Given the description of an element on the screen output the (x, y) to click on. 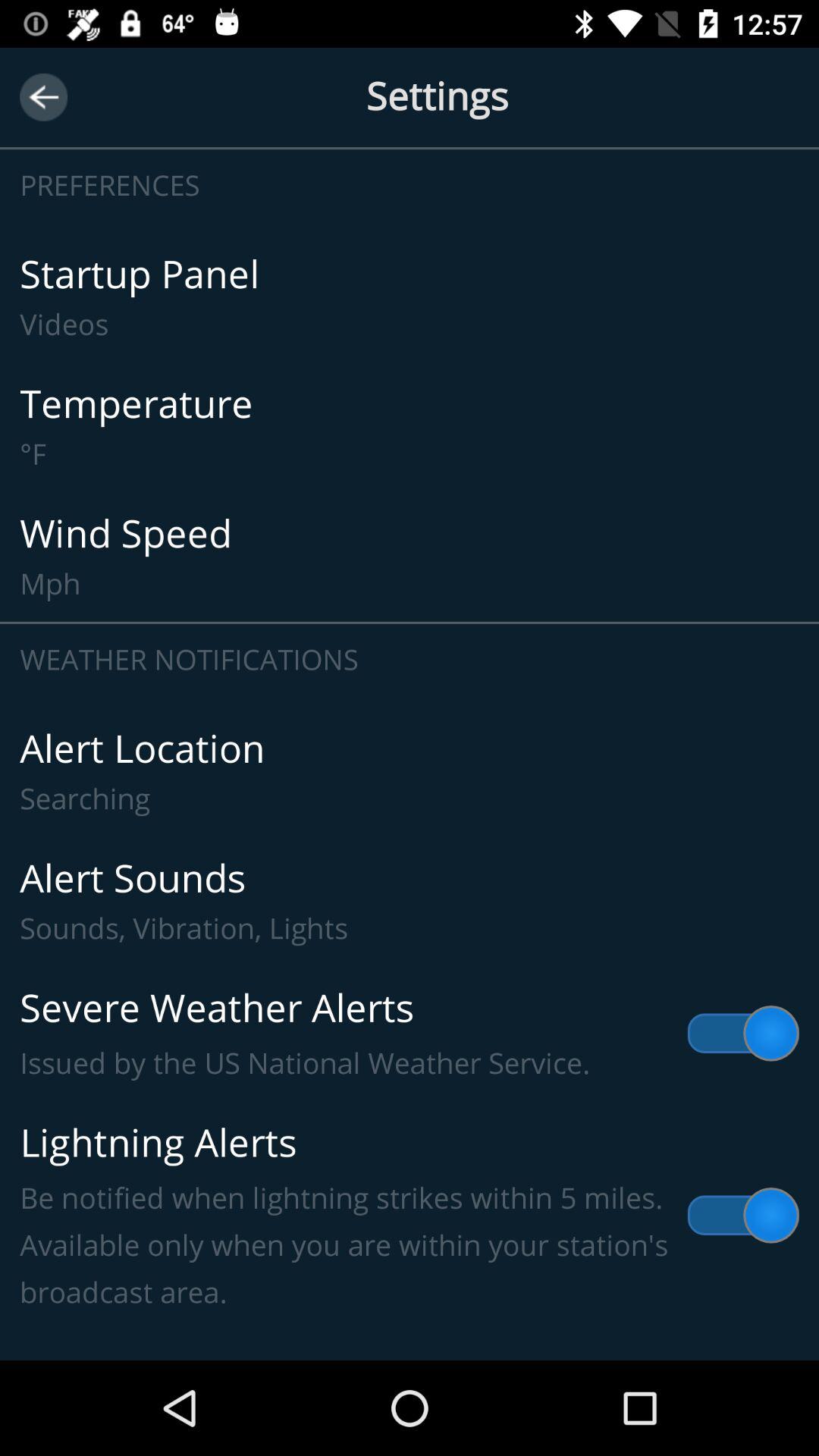
tap lightning alerts be (409, 1215)
